Given the description of an element on the screen output the (x, y) to click on. 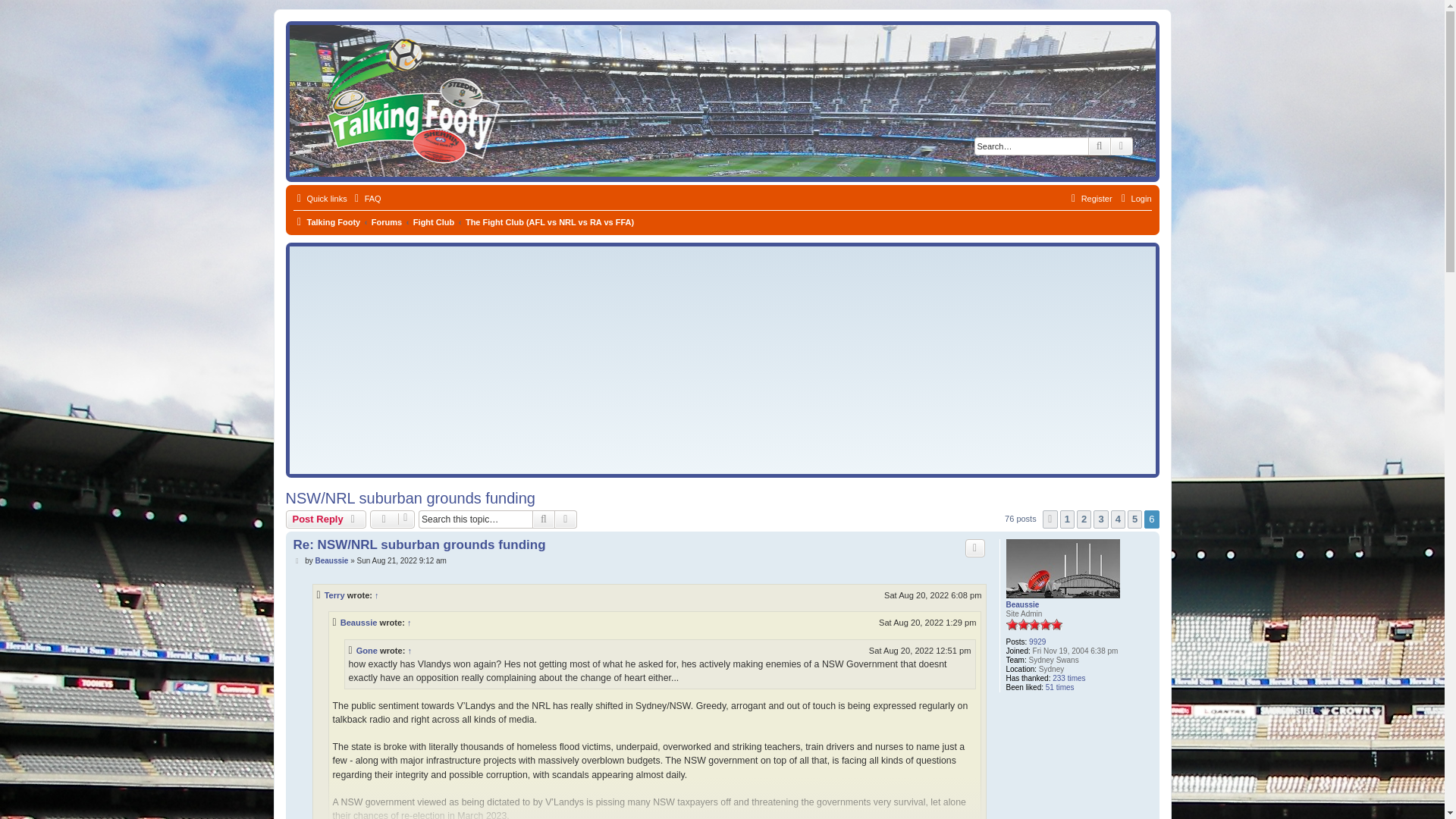
Post Reply (325, 519)
Search (543, 519)
233 times (1068, 678)
Advanced search (565, 519)
Search (1098, 146)
Frequently Asked Questions (365, 198)
Talking Footy (325, 221)
9929 (1037, 642)
Forums (386, 221)
Fight Club (433, 221)
Forums (386, 221)
Fight Club (433, 221)
Search for keywords (1030, 146)
Advanced search (1121, 146)
